Given the description of an element on the screen output the (x, y) to click on. 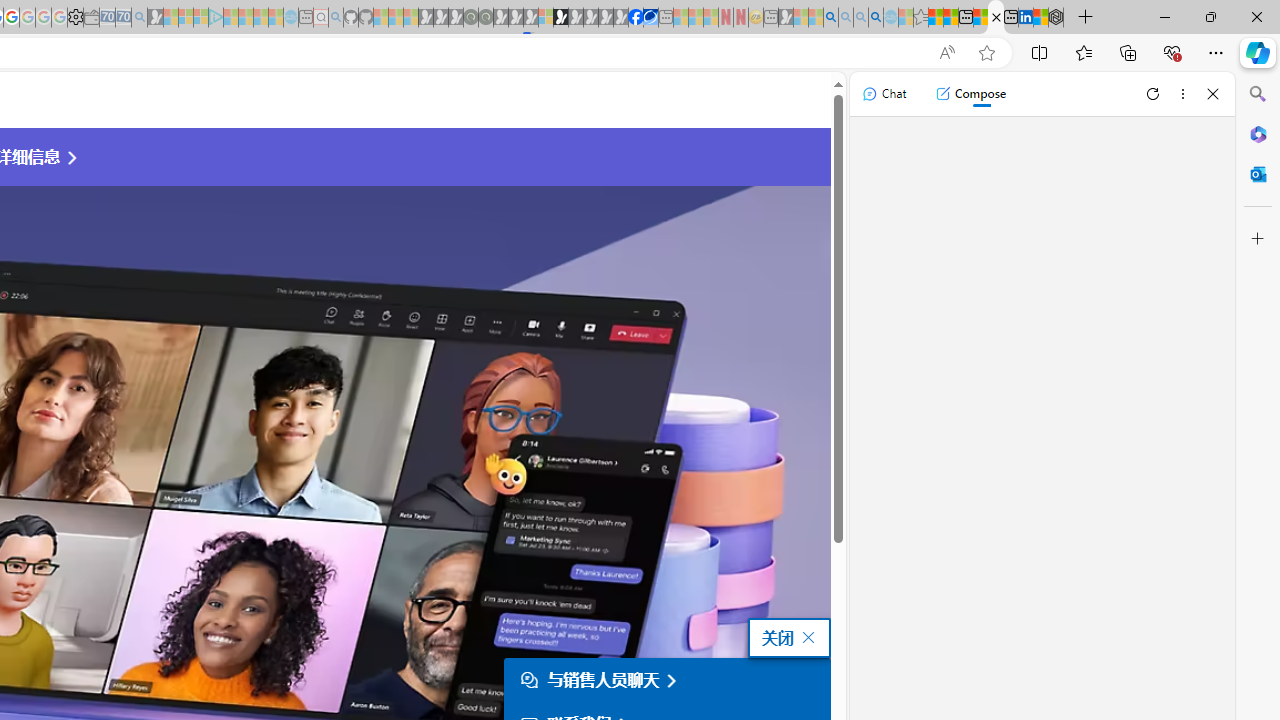
Compose (970, 93)
Favorites - Sleeping (920, 17)
